Given the description of an element on the screen output the (x, y) to click on. 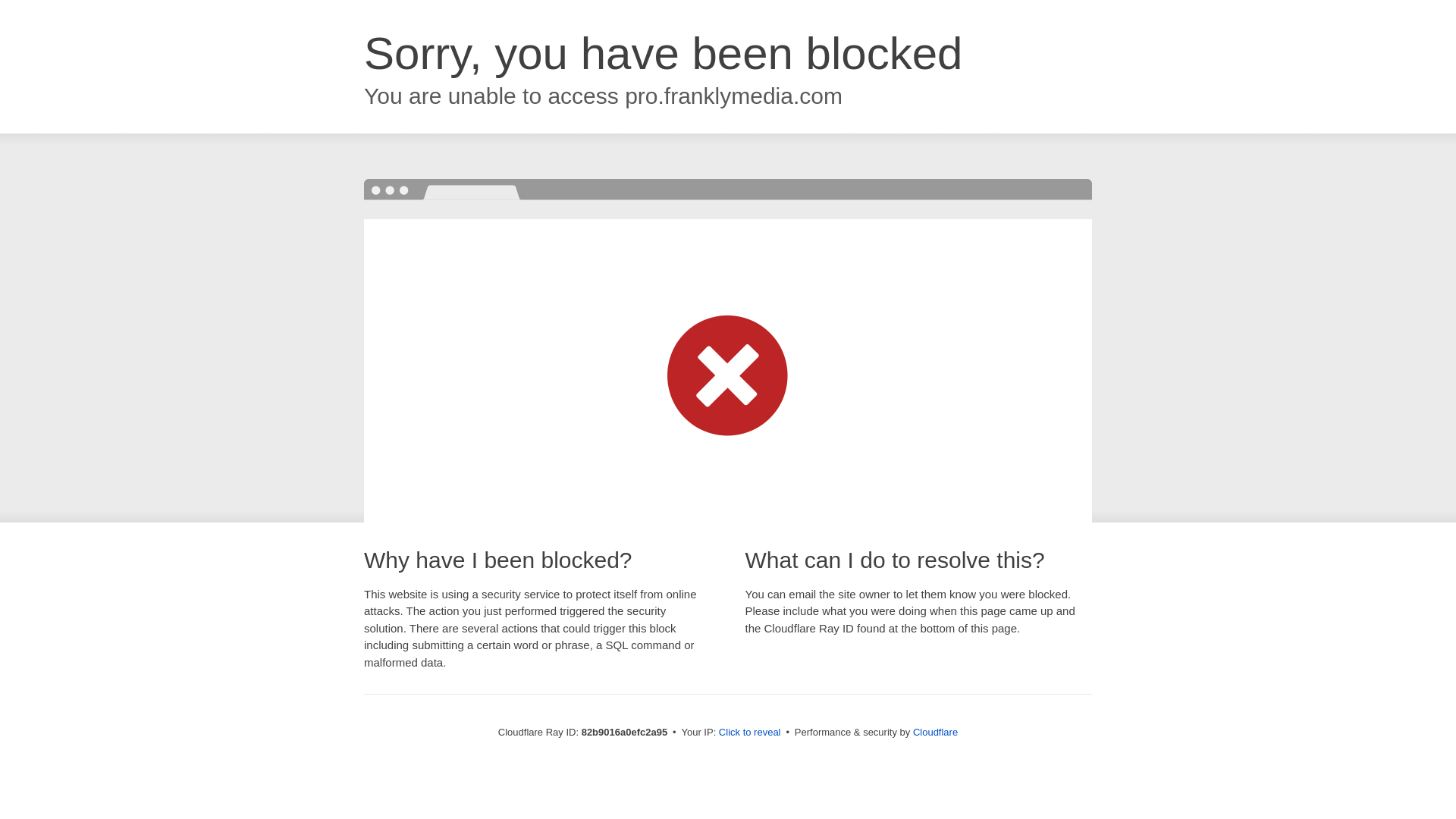
Click to reveal Element type: text (749, 732)
Cloudflare Element type: text (935, 731)
